Given the description of an element on the screen output the (x, y) to click on. 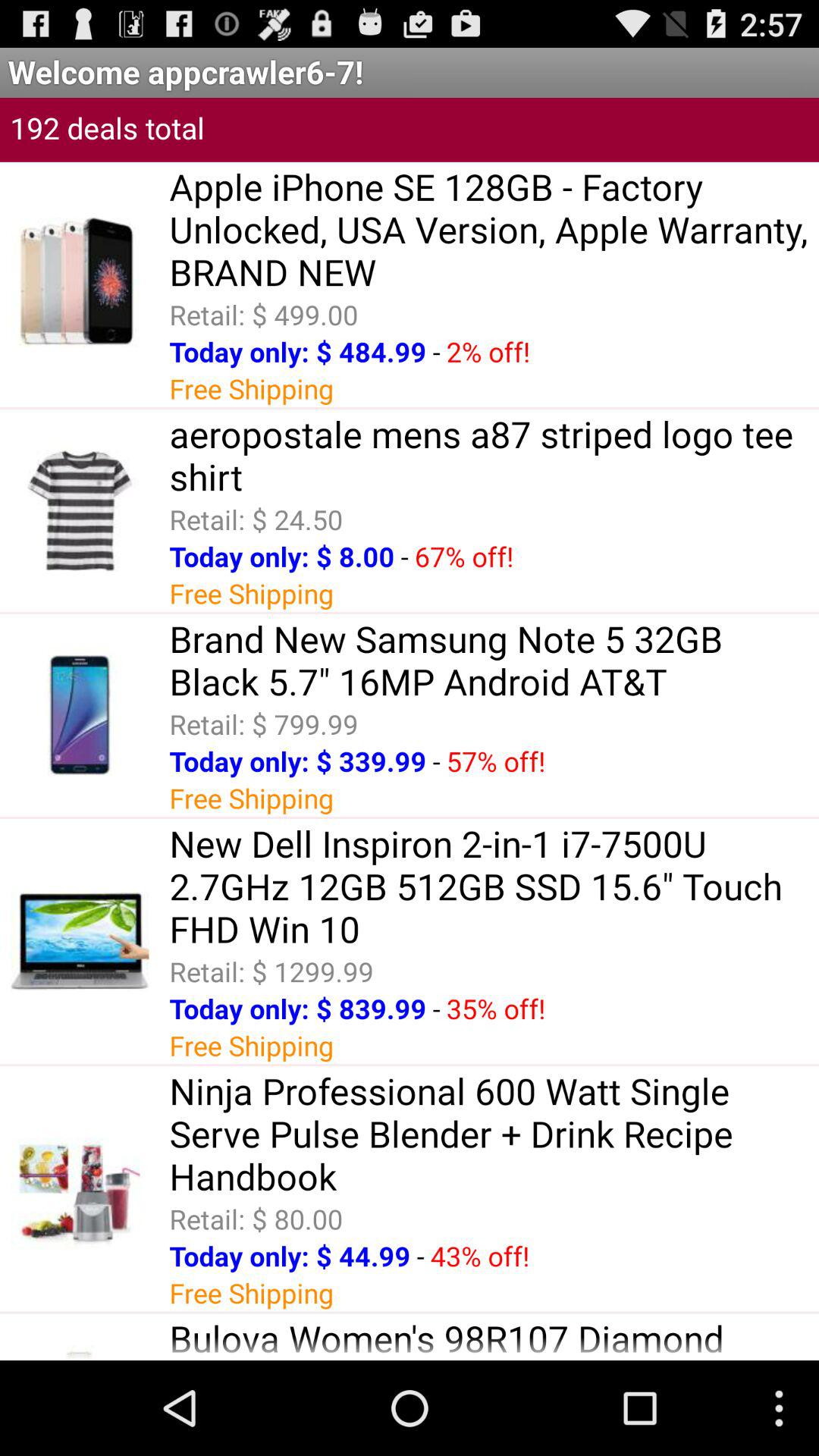
turn off item below the free shipping app (494, 886)
